Given the description of an element on the screen output the (x, y) to click on. 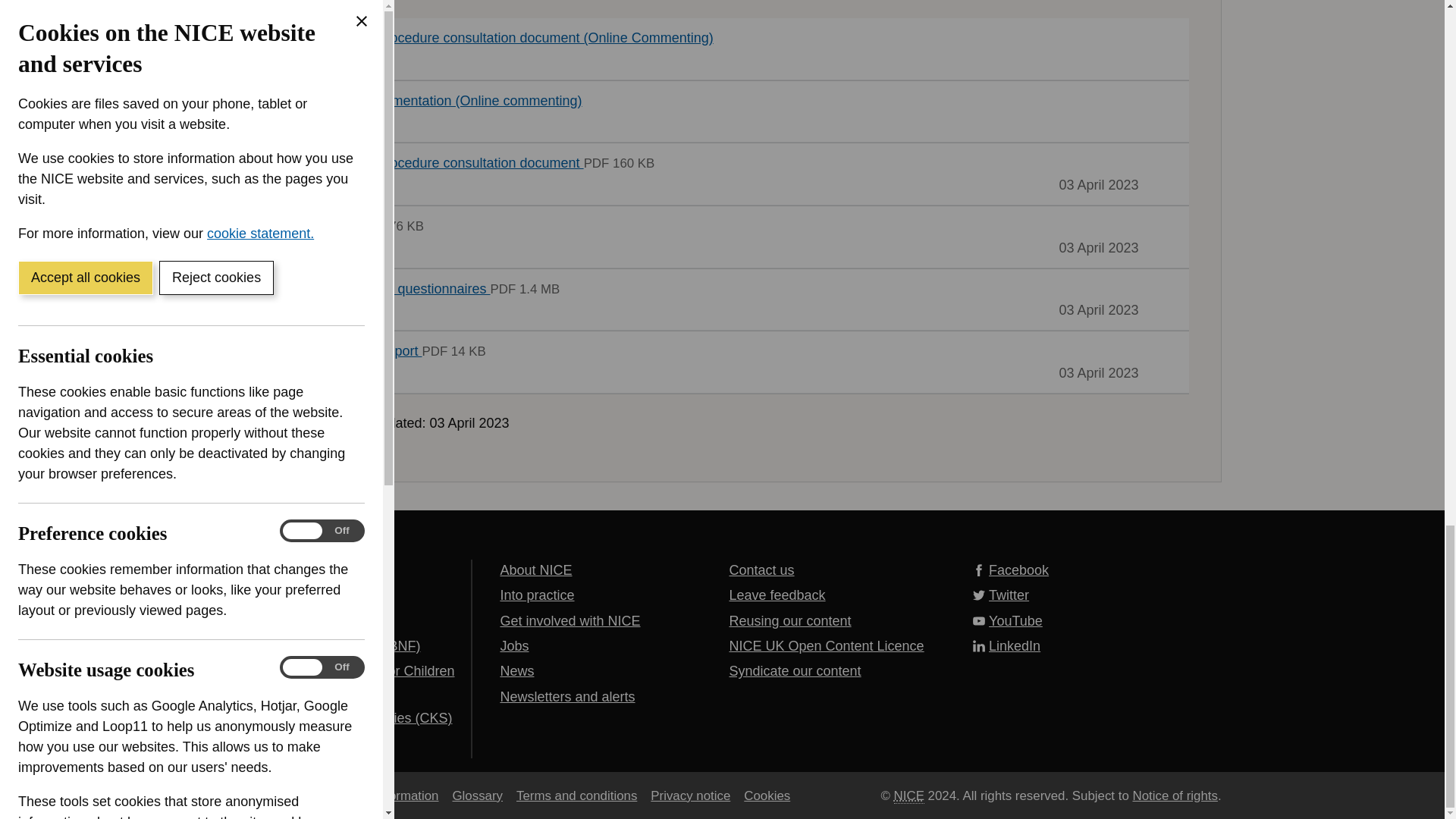
National Institute for Health and Care Excellence (908, 795)
